Given the description of an element on the screen output the (x, y) to click on. 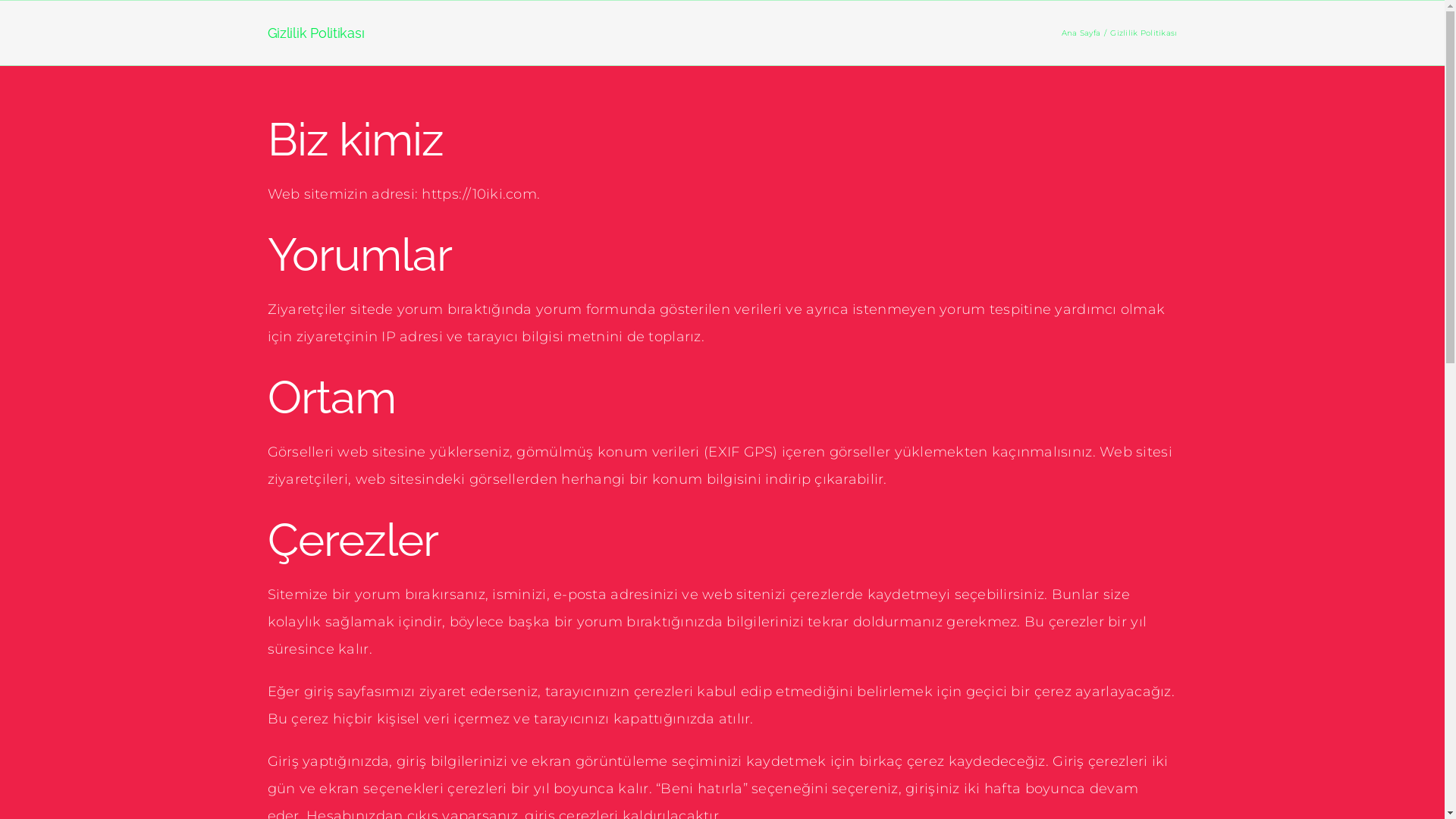
Ana Sayfa Element type: text (1080, 32)
